Given the description of an element on the screen output the (x, y) to click on. 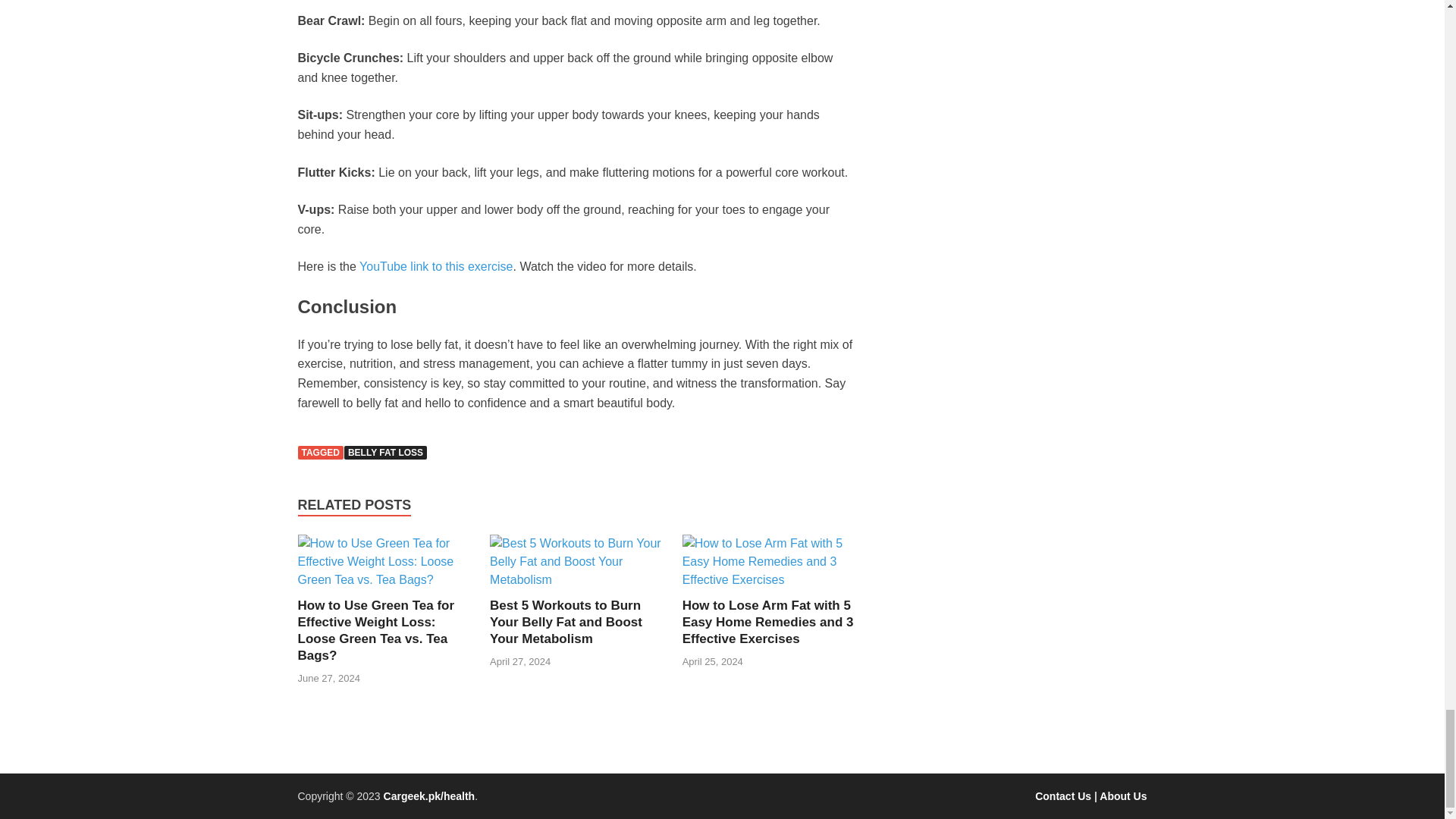
BELLY FAT LOSS (384, 452)
YouTube link to this exercise (435, 266)
